Given the description of an element on the screen output the (x, y) to click on. 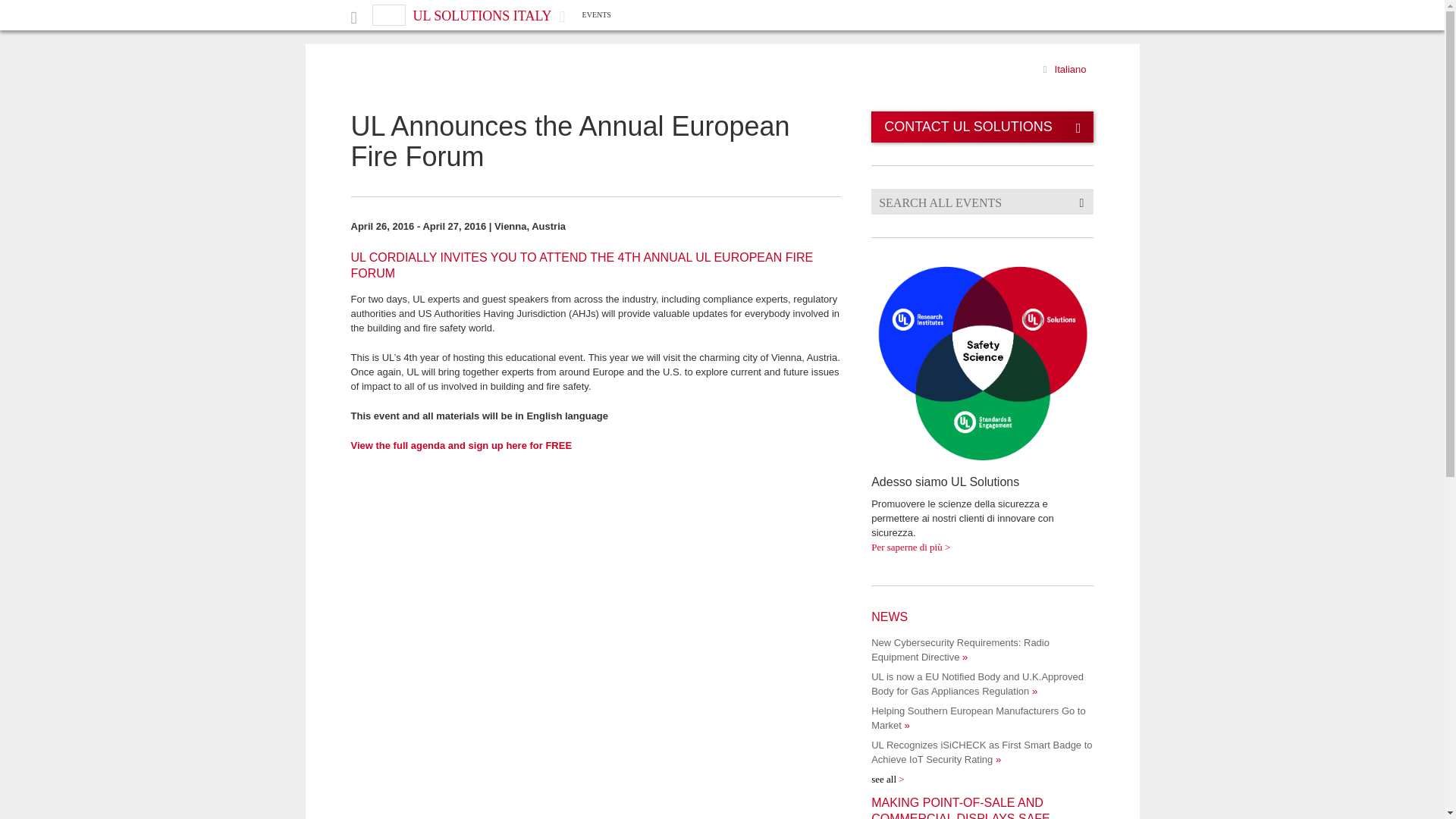
Italiano (1070, 69)
see all (887, 778)
EVENTS (596, 14)
Helping Southern European Manufacturers Go to Market (978, 718)
New Cybersecurity Requirements: Radio Equipment Directive (959, 649)
CONTACT UL SOLUTIONS (981, 126)
EVENTS (596, 14)
UL SOLUTIONS ITALY (481, 15)
View the full agenda and sign up here for FREE (461, 445)
Venn-Diagram-logos-transparentbg-01.png (981, 363)
Sign up UL Fire Forum (461, 445)
